Given the description of an element on the screen output the (x, y) to click on. 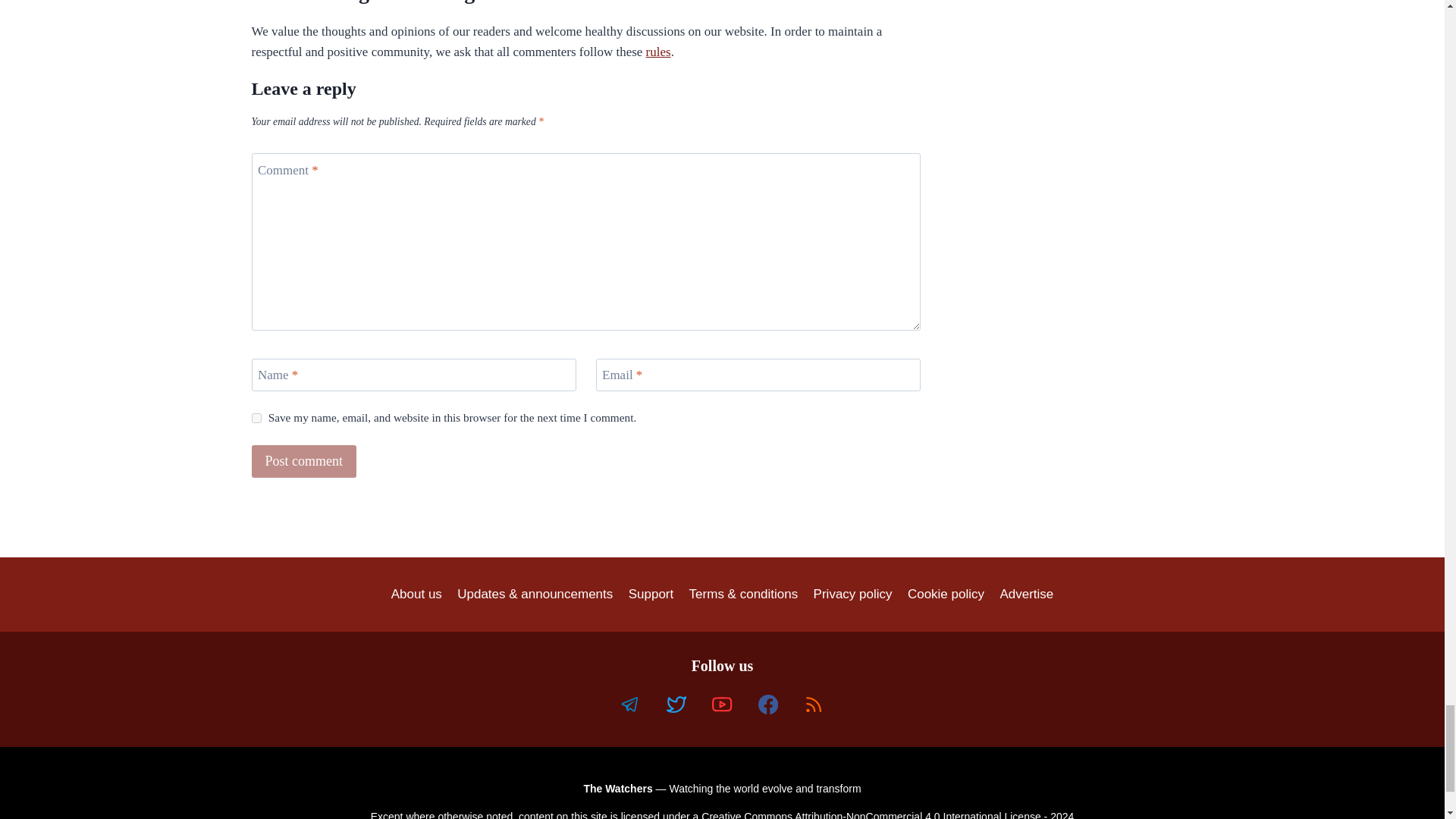
Post comment (303, 461)
yes (256, 418)
